Given the description of an element on the screen output the (x, y) to click on. 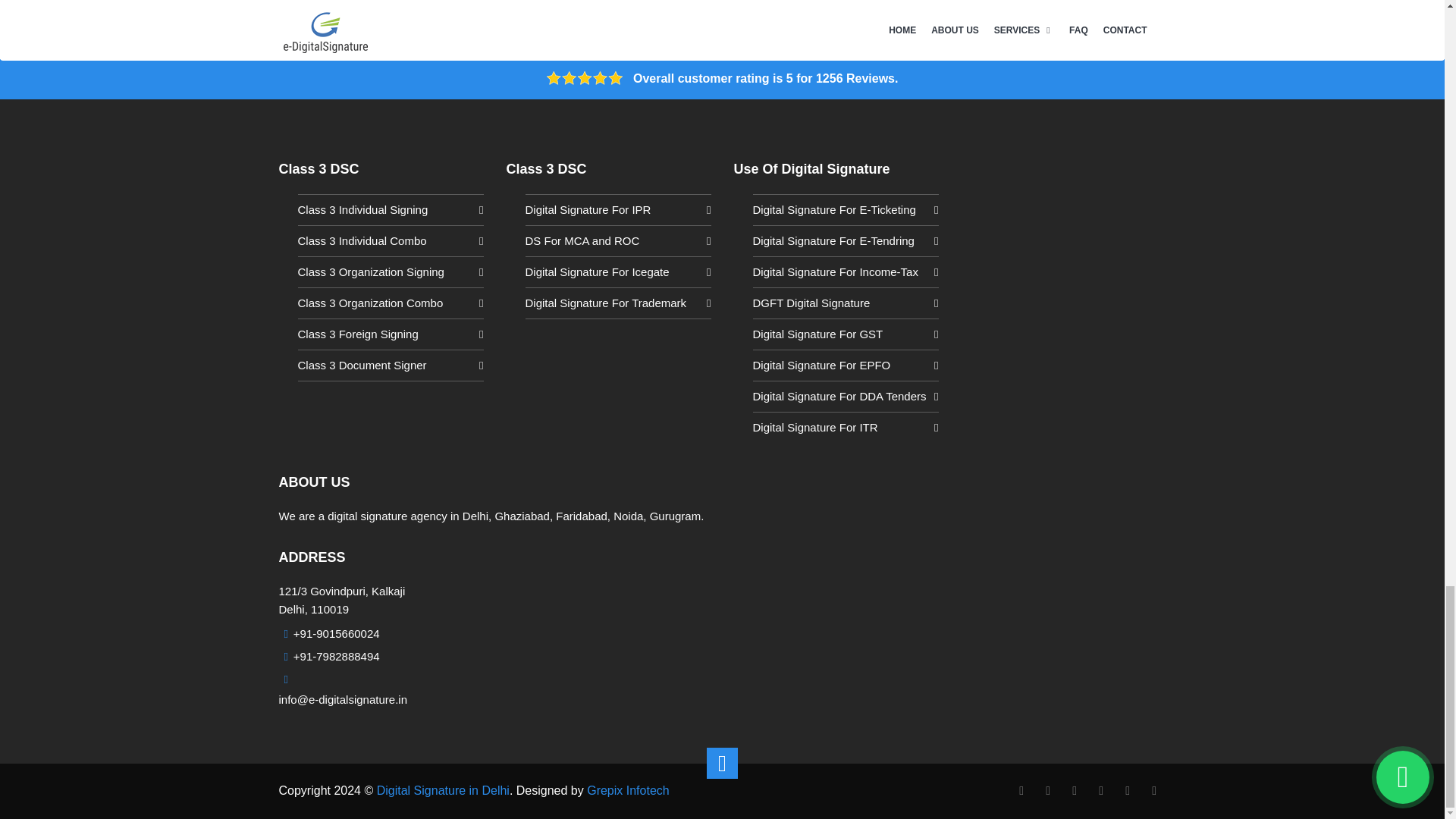
Digital Signature For E-Ticketing (844, 209)
Digital Signature For ITR (844, 427)
Digital Signature For Icegate (617, 272)
Digital Signature For EPFO (844, 365)
Digital Signature For IPR (617, 209)
Digital Signature For Trademark (617, 303)
Class 3 Individual Signing (390, 209)
Digital Signature For GST (844, 334)
Class 3 Individual Combo (390, 240)
DGFT Digital Signature (844, 303)
